Given the description of an element on the screen output the (x, y) to click on. 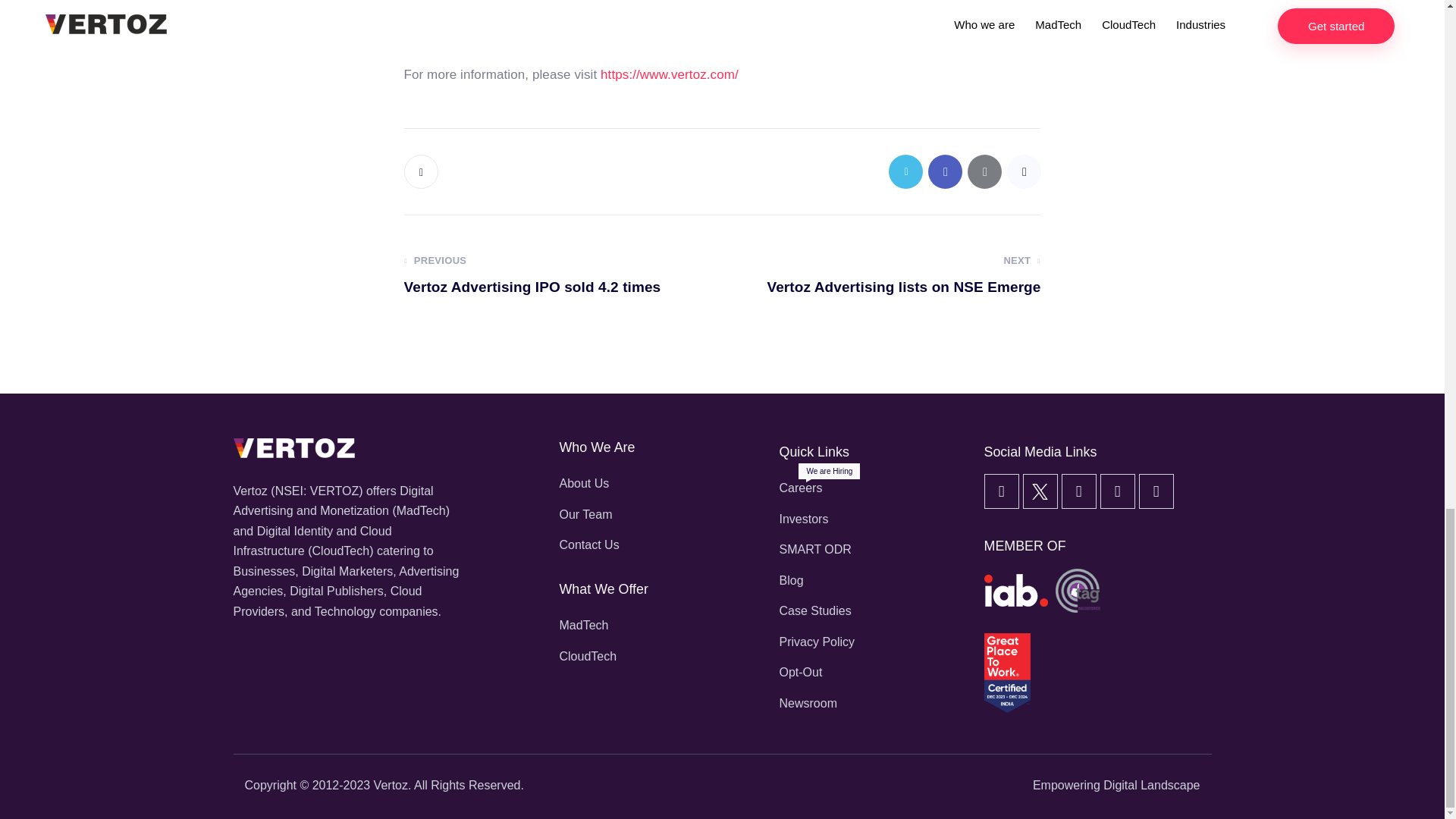
Copy URL to clipboard (1024, 171)
Like (422, 171)
